Given the description of an element on the screen output the (x, y) to click on. 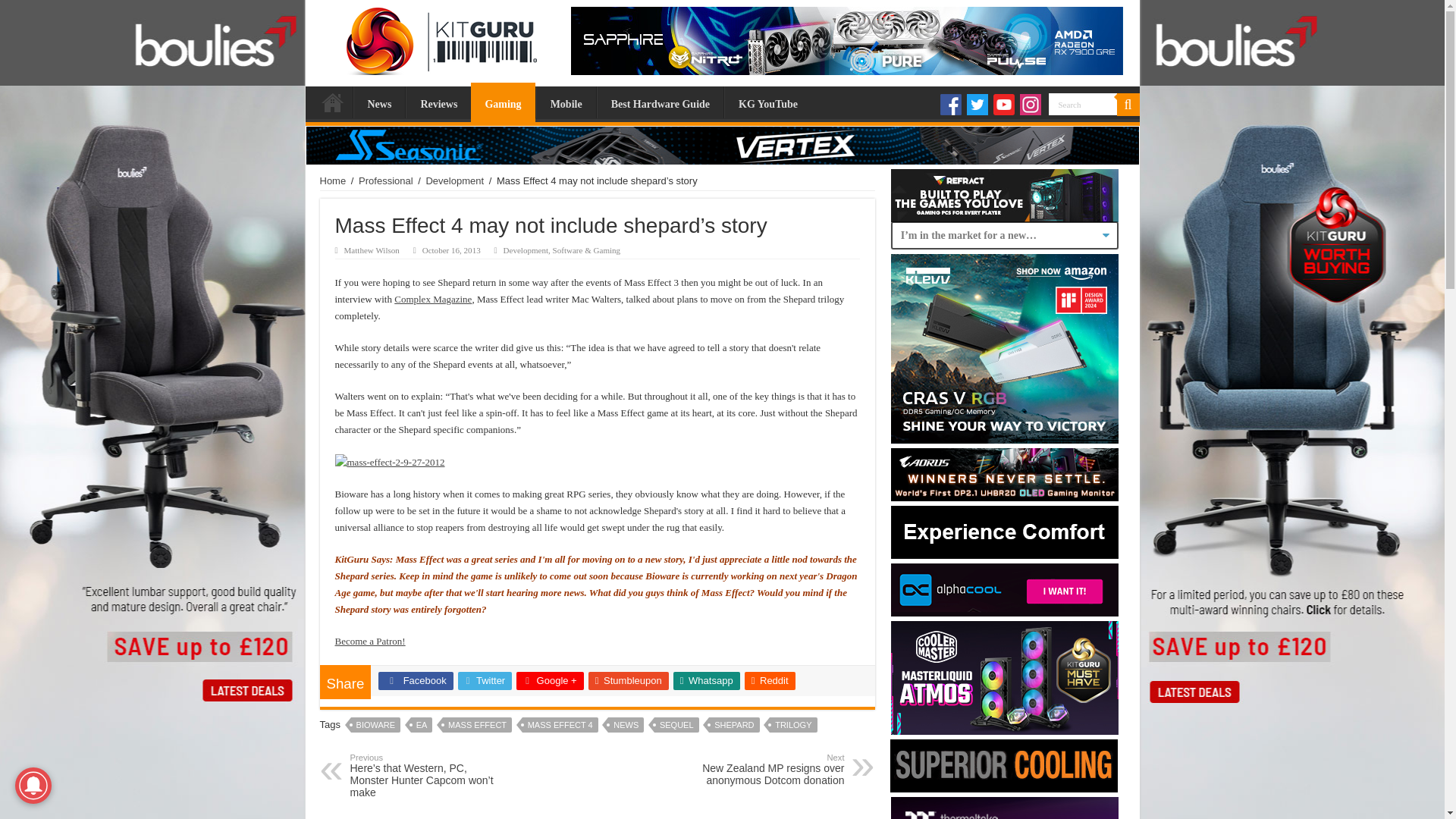
Home (333, 180)
Twitter (977, 104)
Home (332, 101)
Search (1082, 104)
Become a Patron! (370, 641)
Instagram (1030, 104)
Development (525, 249)
Gaming (502, 102)
News (379, 101)
Matthew Wilson (370, 249)
Facebook (415, 680)
Reviews (438, 101)
Search (1082, 104)
Best Hardware Guide (659, 101)
Complex Magazine (432, 298)
